Given the description of an element on the screen output the (x, y) to click on. 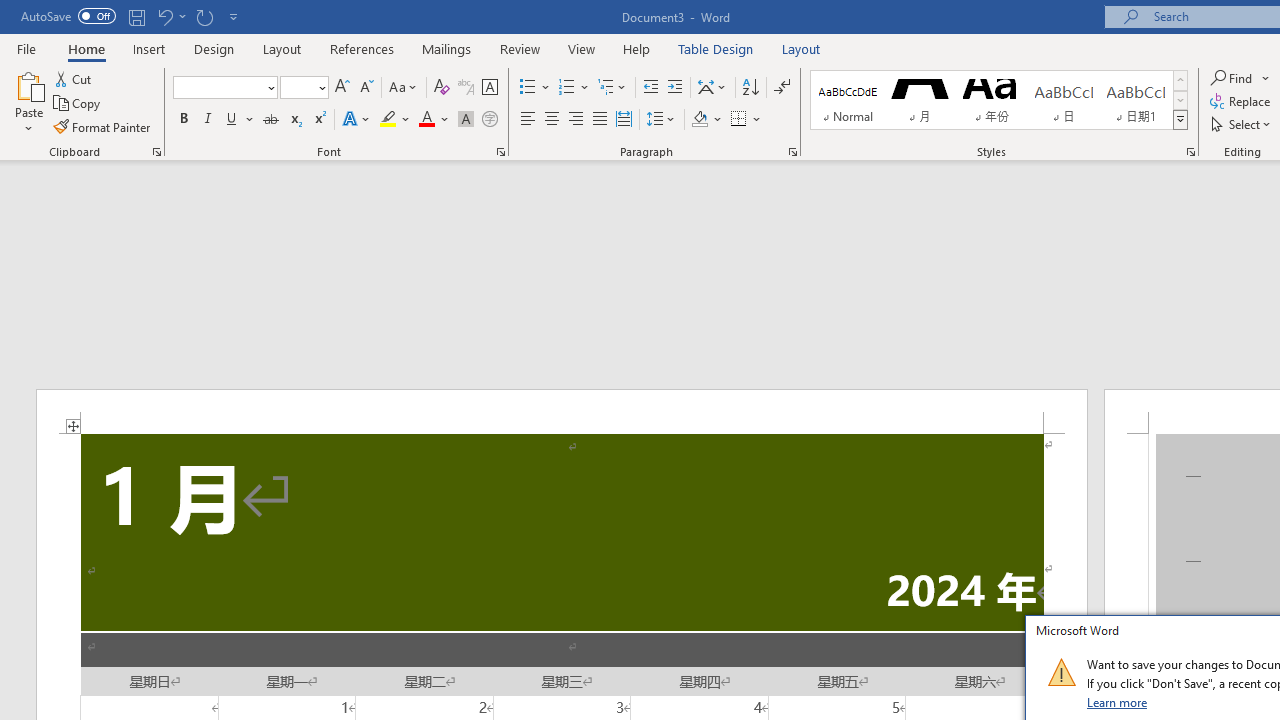
Learn more (1118, 702)
